Given the description of an element on the screen output the (x, y) to click on. 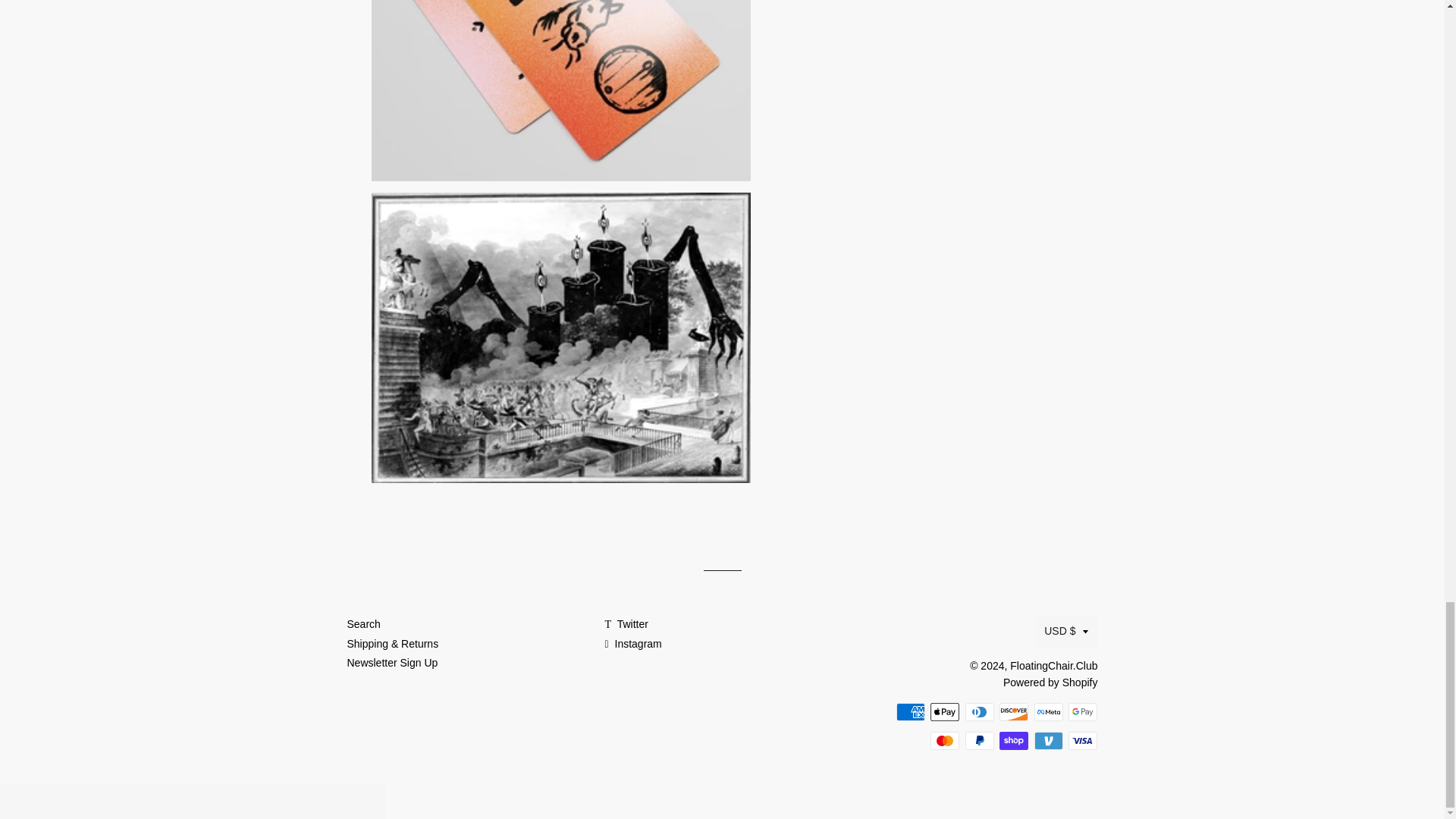
PayPal (979, 741)
FloatingChair.Club on Twitter (625, 623)
FloatingChair.Club on Instagram (632, 644)
Google Pay (1082, 711)
Meta Pay (1047, 711)
Apple Pay (944, 711)
Venmo (1047, 741)
Discover (1012, 711)
American Express (910, 711)
Shop Pay (1012, 741)
